Given the description of an element on the screen output the (x, y) to click on. 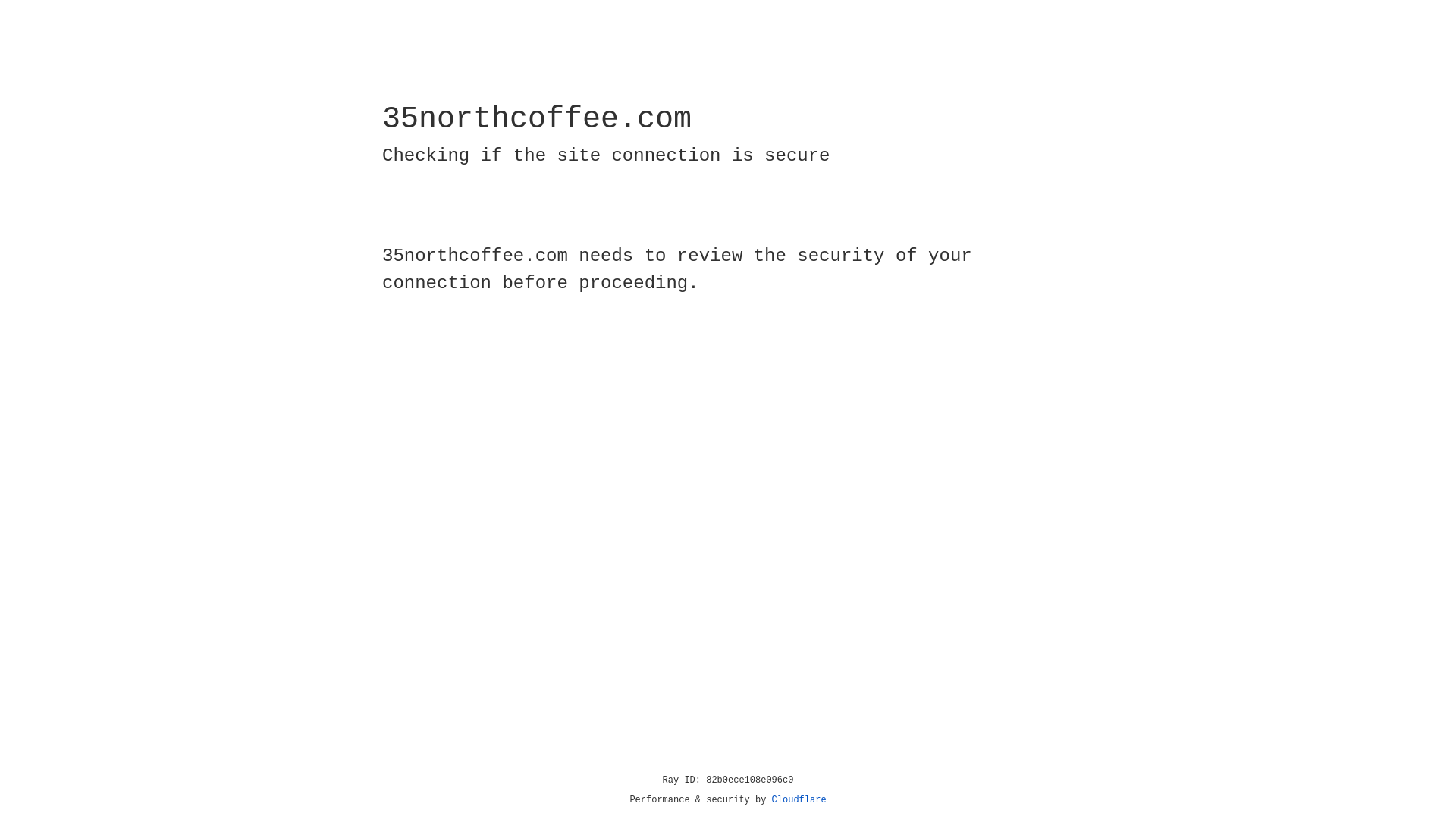
Cloudflare Element type: text (798, 799)
